Given the description of an element on the screen output the (x, y) to click on. 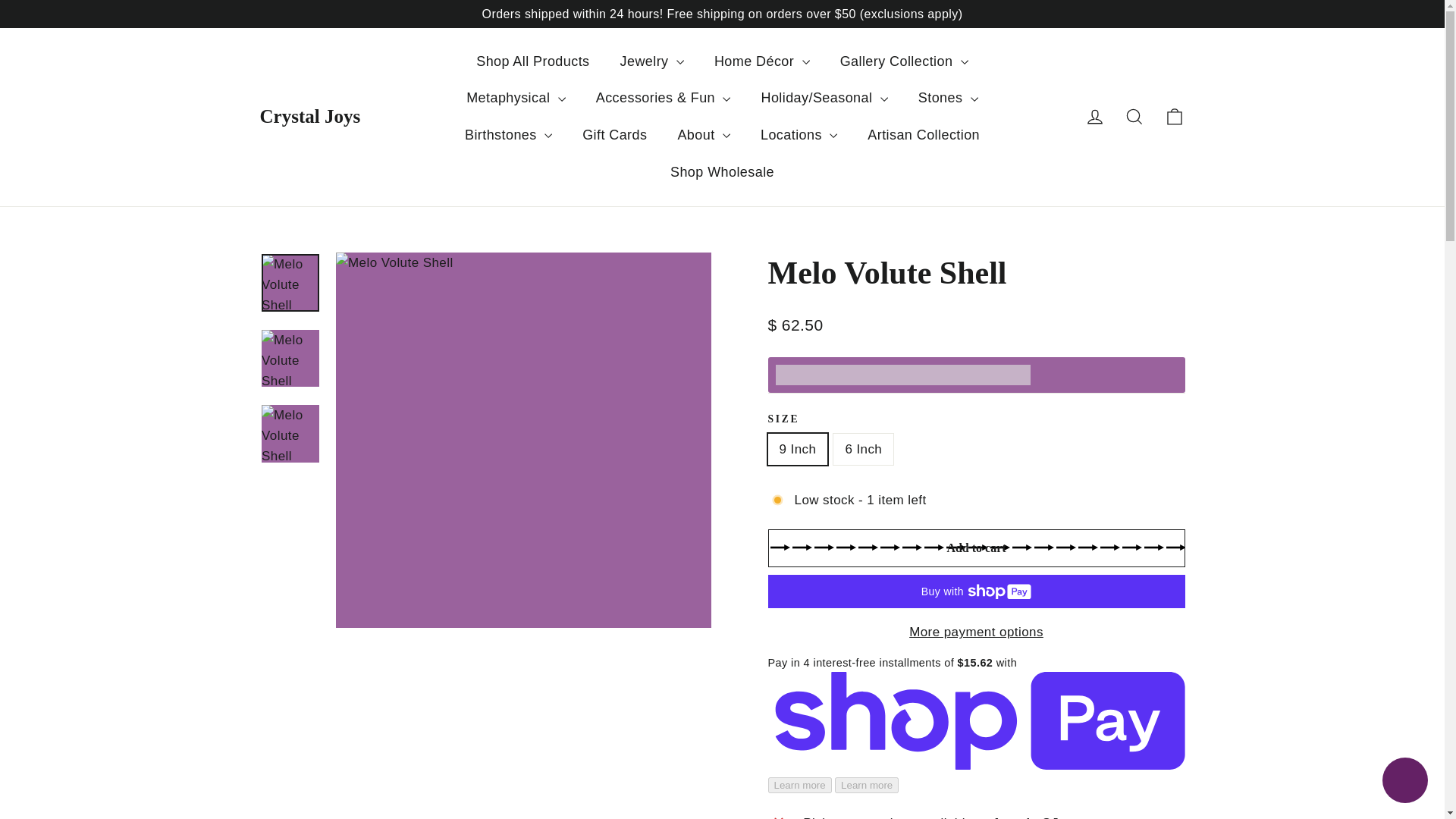
Shopify online store chat (1404, 781)
